Given the description of an element on the screen output the (x, y) to click on. 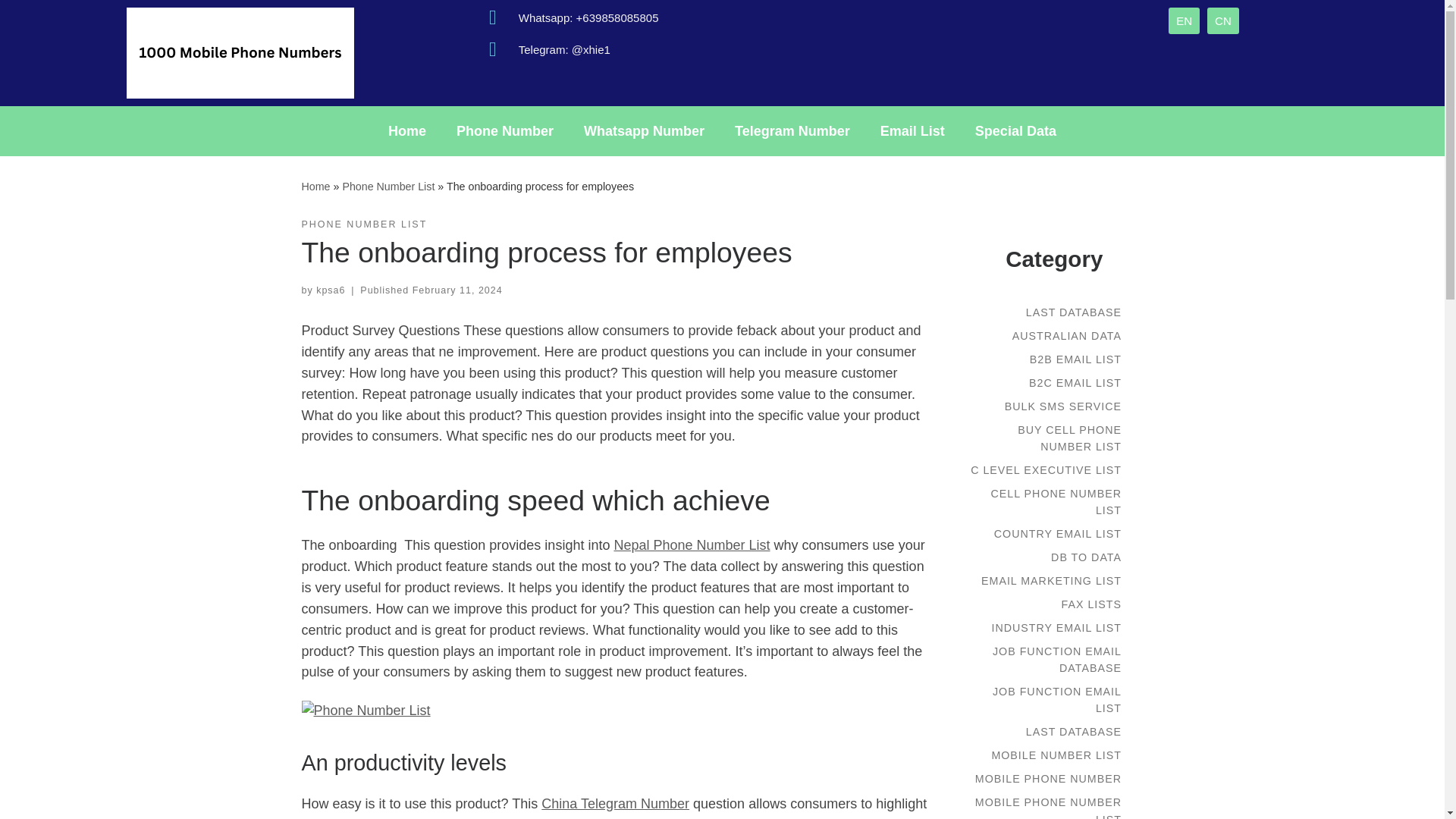
Phone Number List (387, 186)
Phone Number List (387, 186)
Home (315, 186)
View all posts by kpsa6 (330, 290)
EN (1184, 20)
China Telegram Number (614, 803)
Email List (911, 130)
CN (1223, 20)
Home (406, 130)
Phone Number (505, 130)
